Given the description of an element on the screen output the (x, y) to click on. 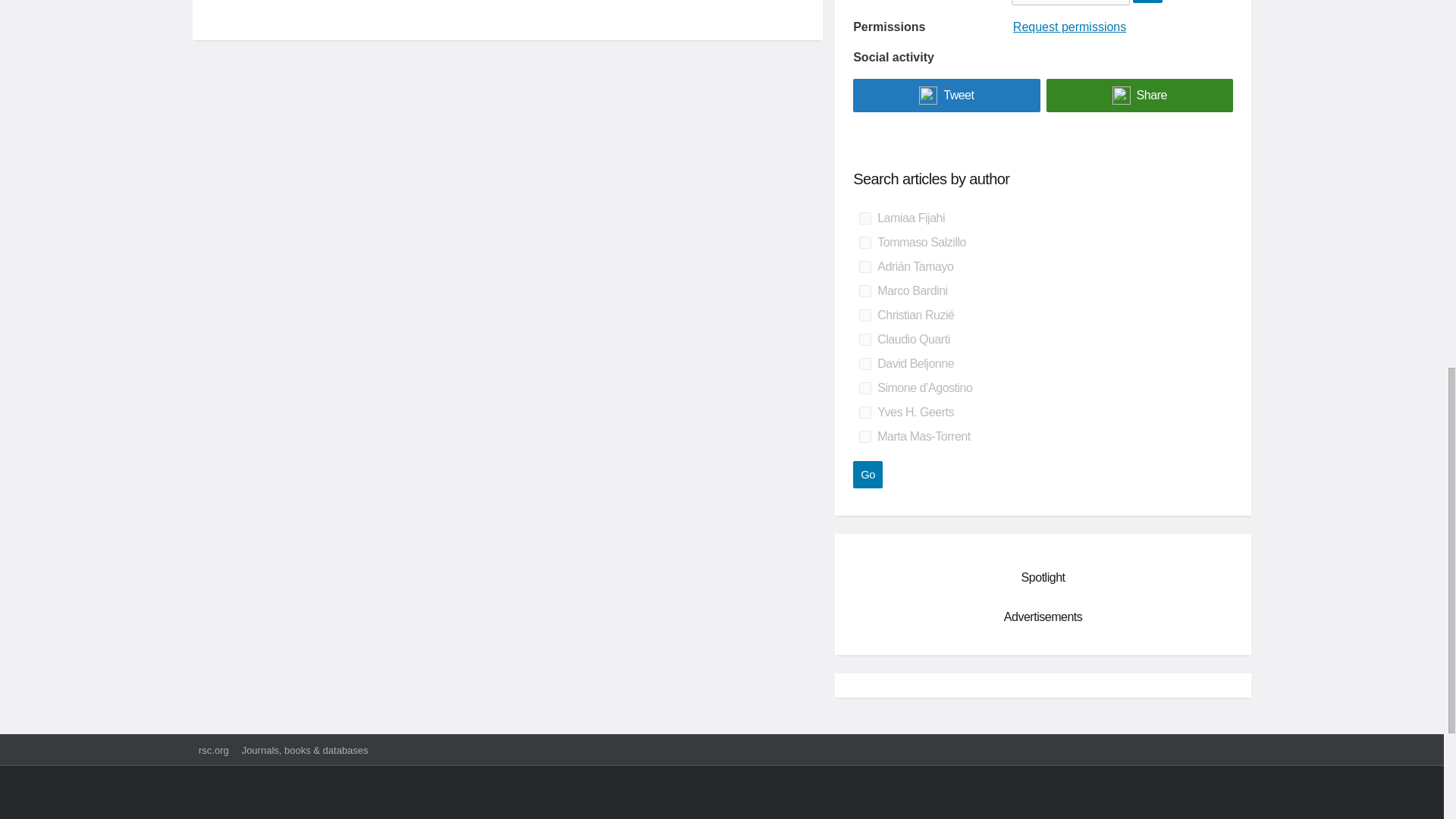
on (864, 339)
on (864, 387)
on (864, 315)
Go (867, 474)
Go (1146, 1)
on (864, 363)
on (864, 291)
on (864, 218)
on (864, 242)
Go (867, 474)
on (864, 436)
on (864, 266)
on (864, 412)
